Given the description of an element on the screen output the (x, y) to click on. 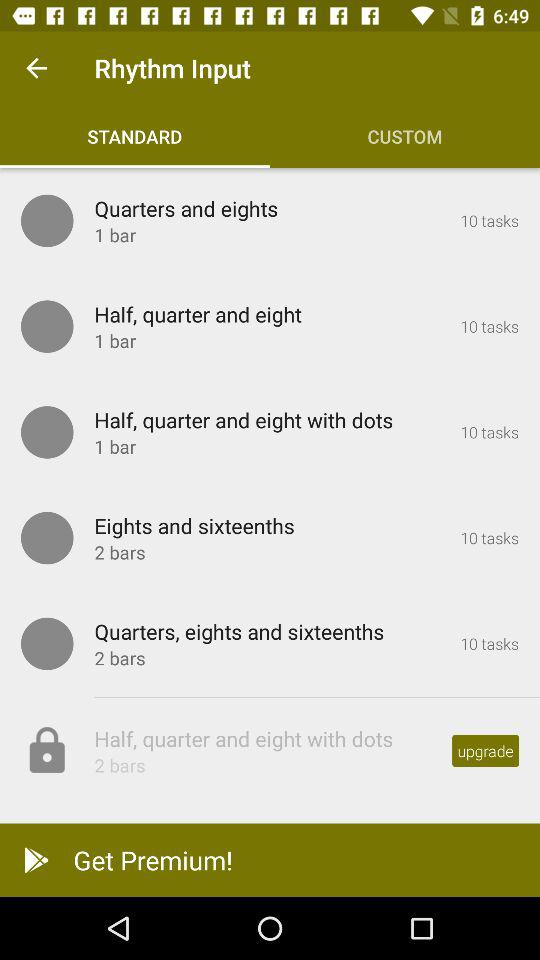
open the item below the 2 bars item (270, 859)
